Given the description of an element on the screen output the (x, y) to click on. 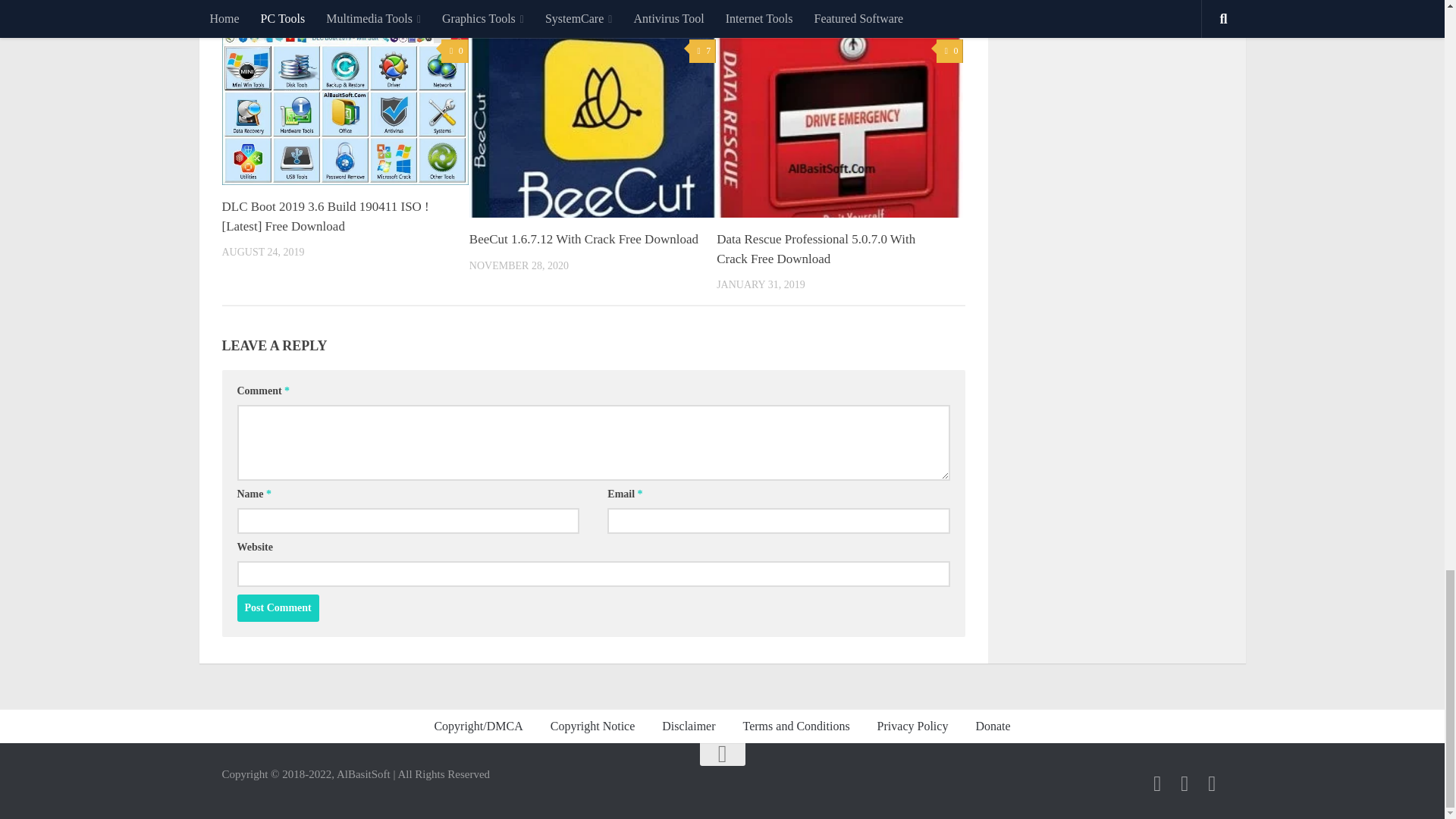
Post Comment (276, 607)
Follow us on Pinterest (1212, 783)
Follow us on Youtube (1157, 783)
